Given the description of an element on the screen output the (x, y) to click on. 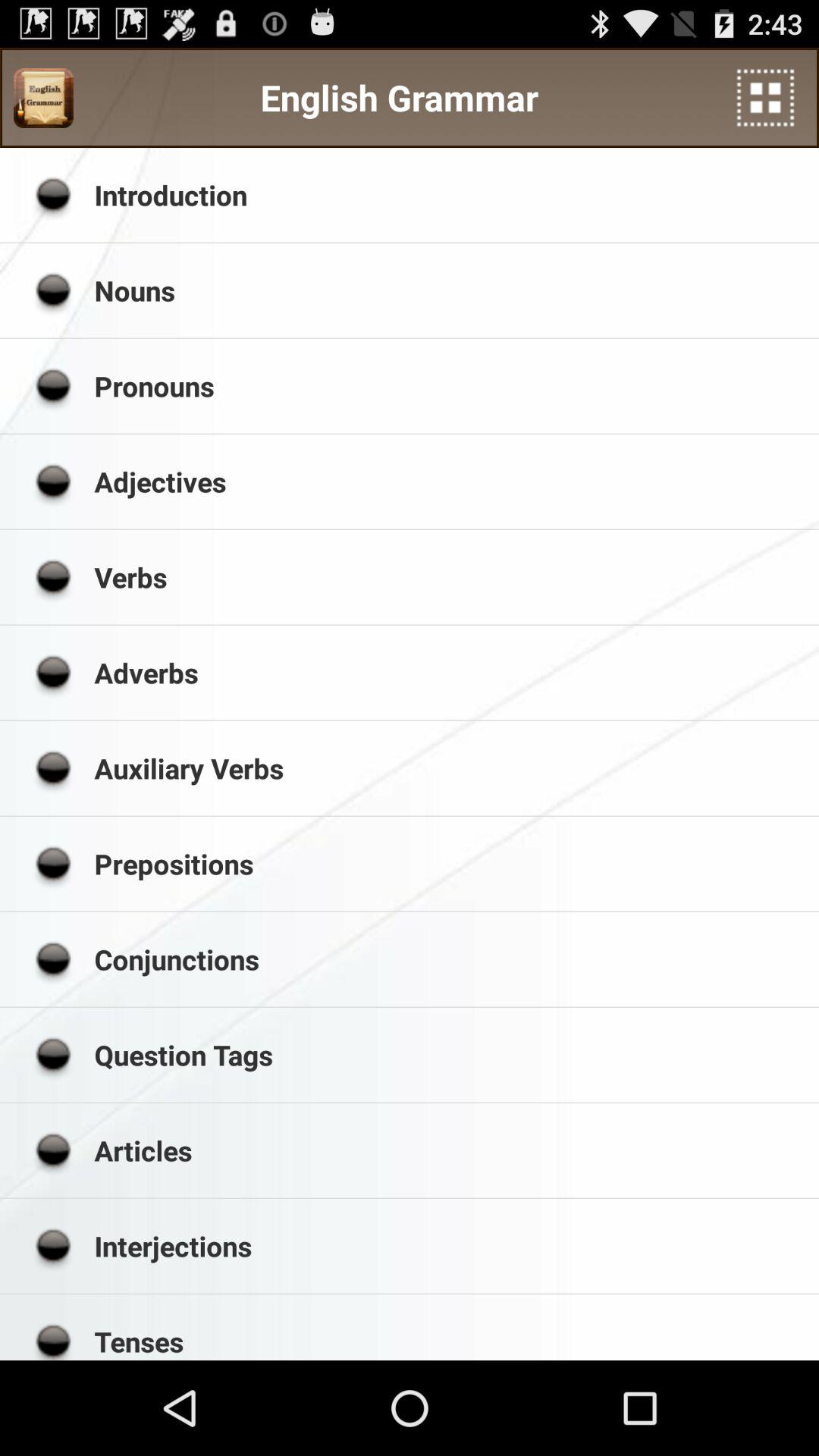
choose the icon above the verbs app (451, 481)
